Given the description of an element on the screen output the (x, y) to click on. 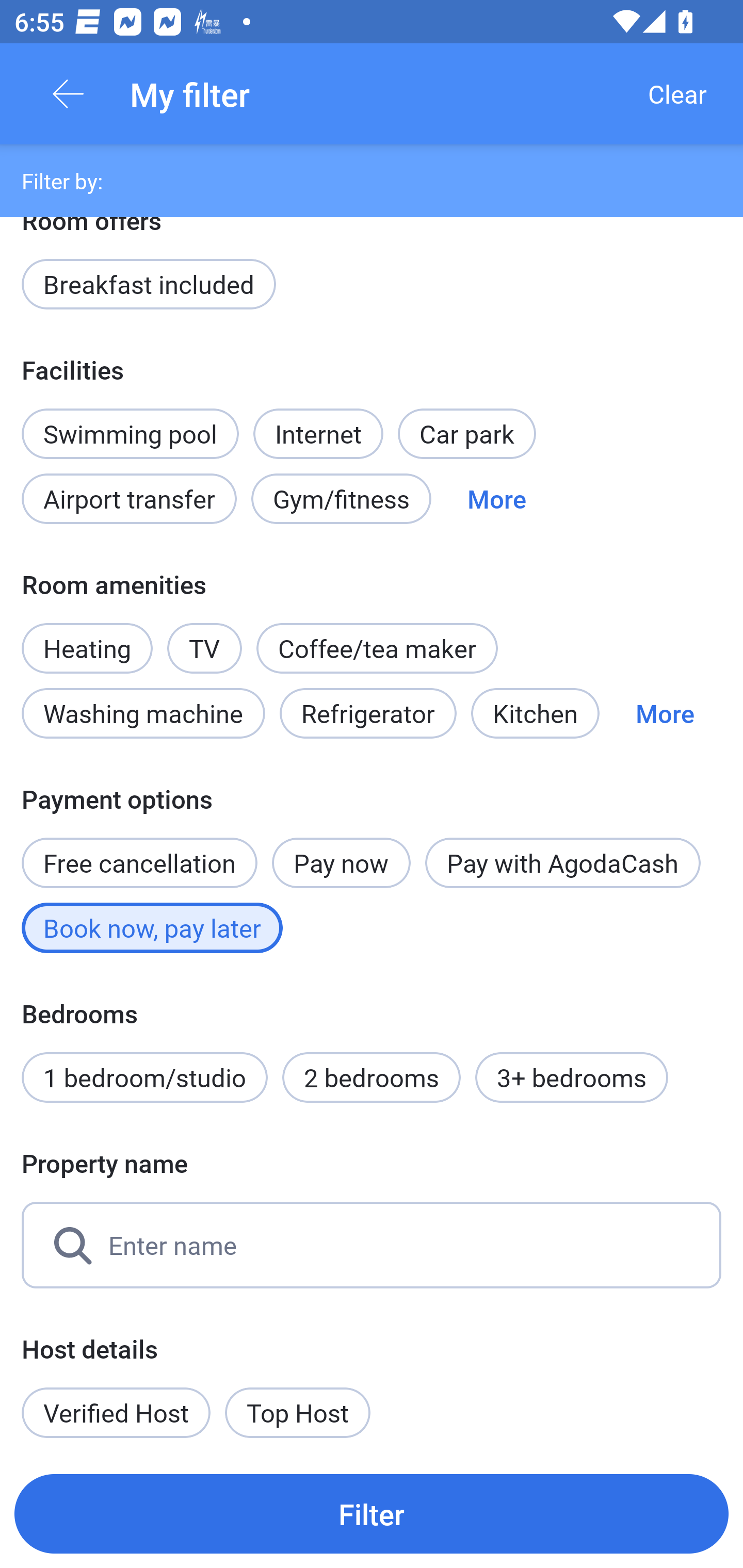
Clear (676, 93)
Breakfast included (148, 284)
Swimming pool (130, 433)
Internet (318, 422)
Car park (466, 433)
Airport transfer (129, 498)
Gym/fitness (341, 498)
More (496, 498)
Heating (87, 637)
TV (204, 637)
Coffee/tea maker (376, 648)
Washing machine (143, 713)
Refrigerator (367, 713)
Kitchen (535, 713)
More (664, 713)
Free cancellation (139, 852)
Pay now (340, 863)
Pay with AgodaCash (562, 863)
1 bedroom/studio (144, 1077)
2 bedrooms (371, 1077)
3+ bedrooms (571, 1077)
Enter name (371, 1244)
Verified Host (115, 1412)
Top Host (297, 1412)
Filter (371, 1513)
